Given the description of an element on the screen output the (x, y) to click on. 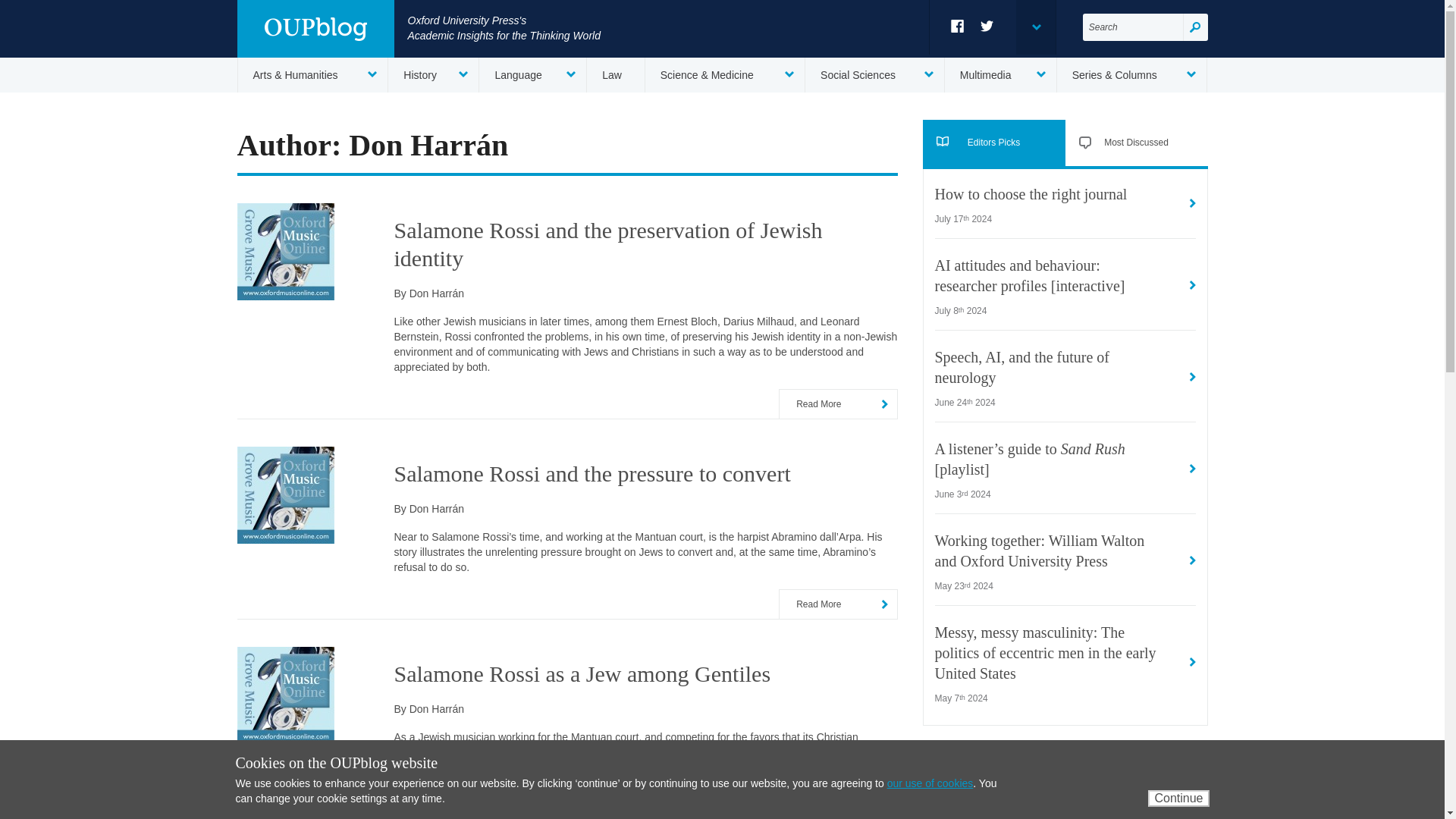
Twitter (986, 25)
Subscribe (1154, 805)
Search for: (1132, 26)
Language (532, 74)
Facebook (957, 25)
Search (1195, 26)
our use of cookies (930, 783)
History (433, 74)
Continue (1178, 798)
